Given the description of an element on the screen output the (x, y) to click on. 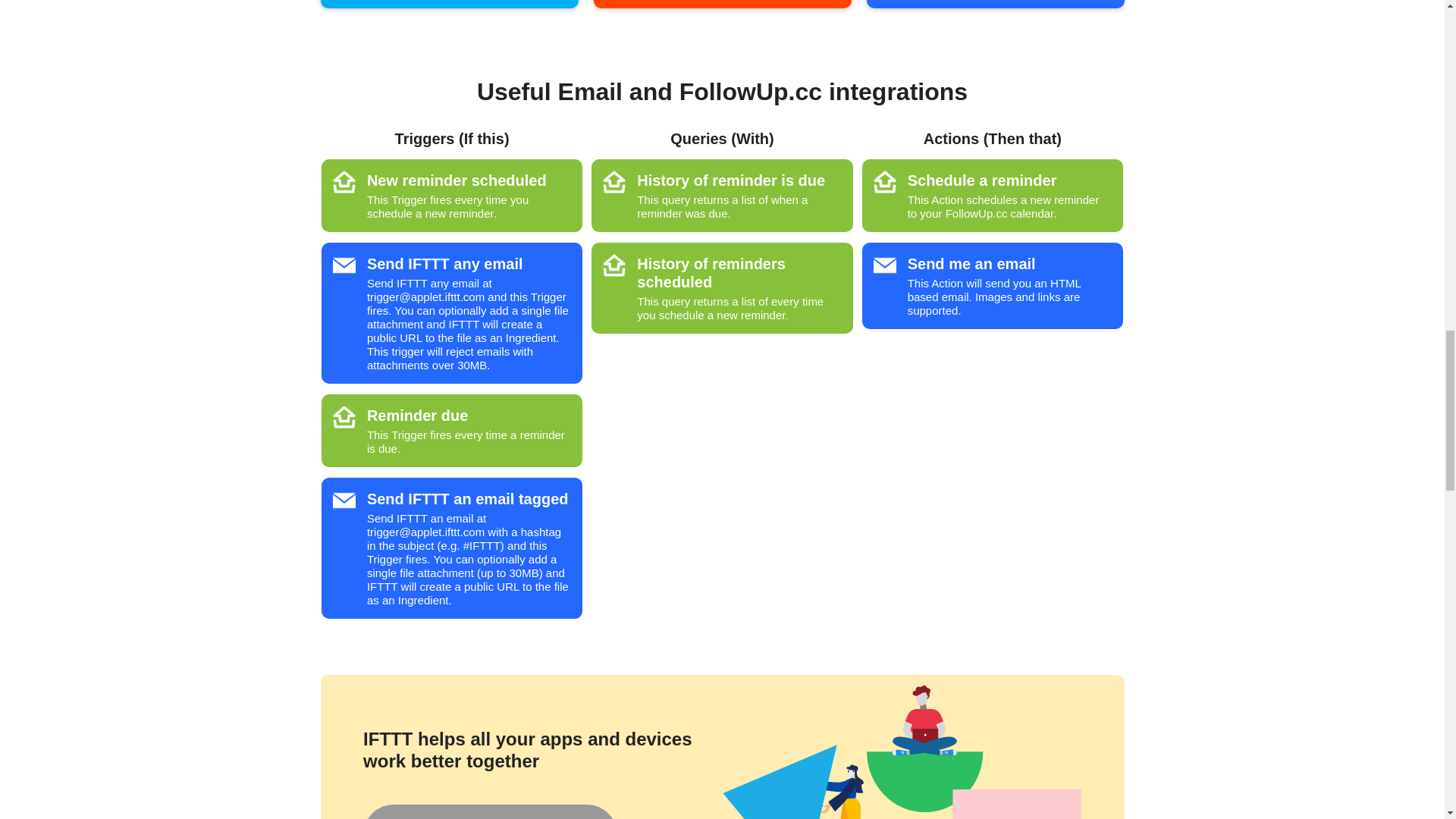
Start automating (488, 811)
